Given the description of an element on the screen output the (x, y) to click on. 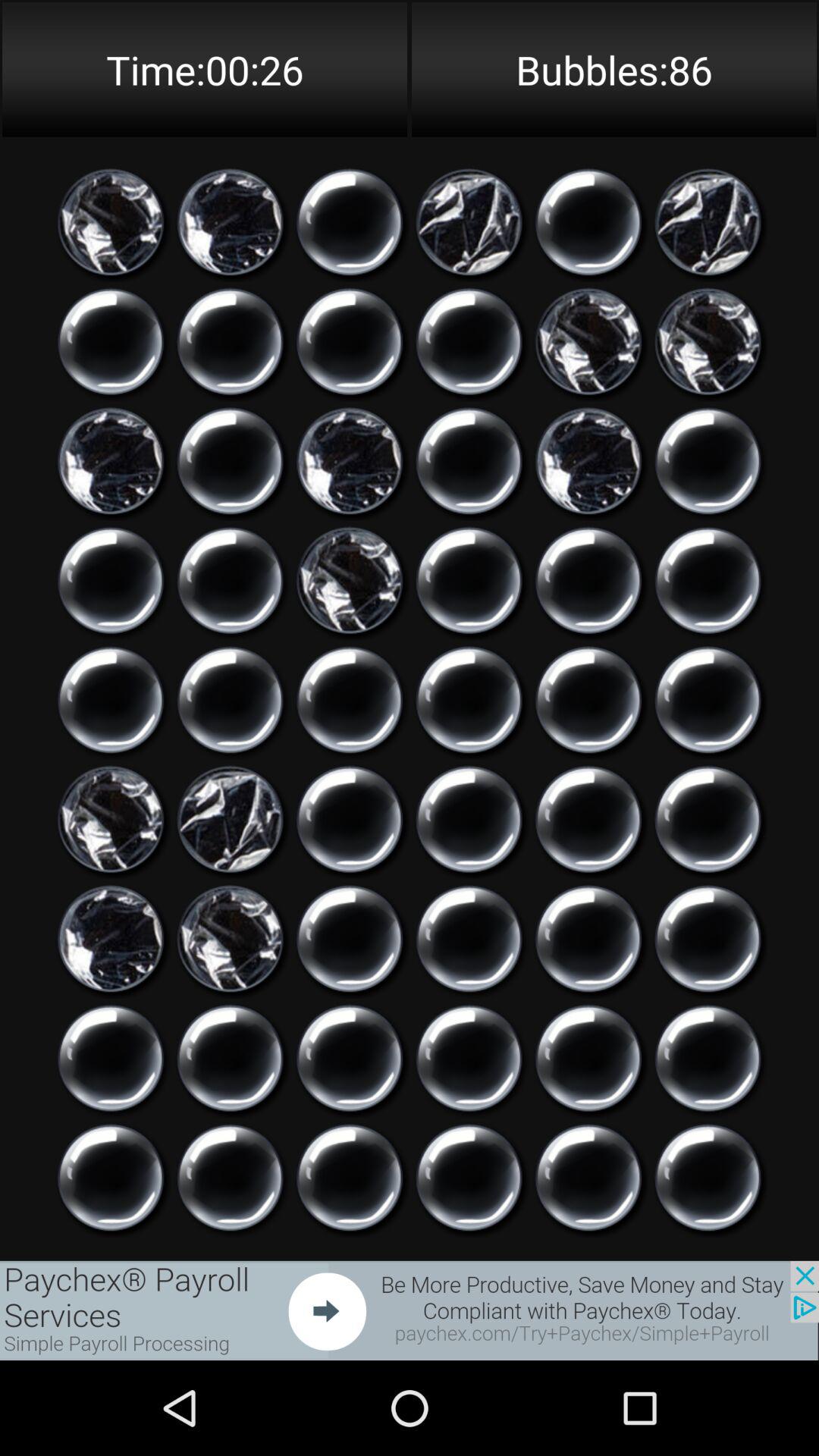
burst bubble (110, 938)
